Given the description of an element on the screen output the (x, y) to click on. 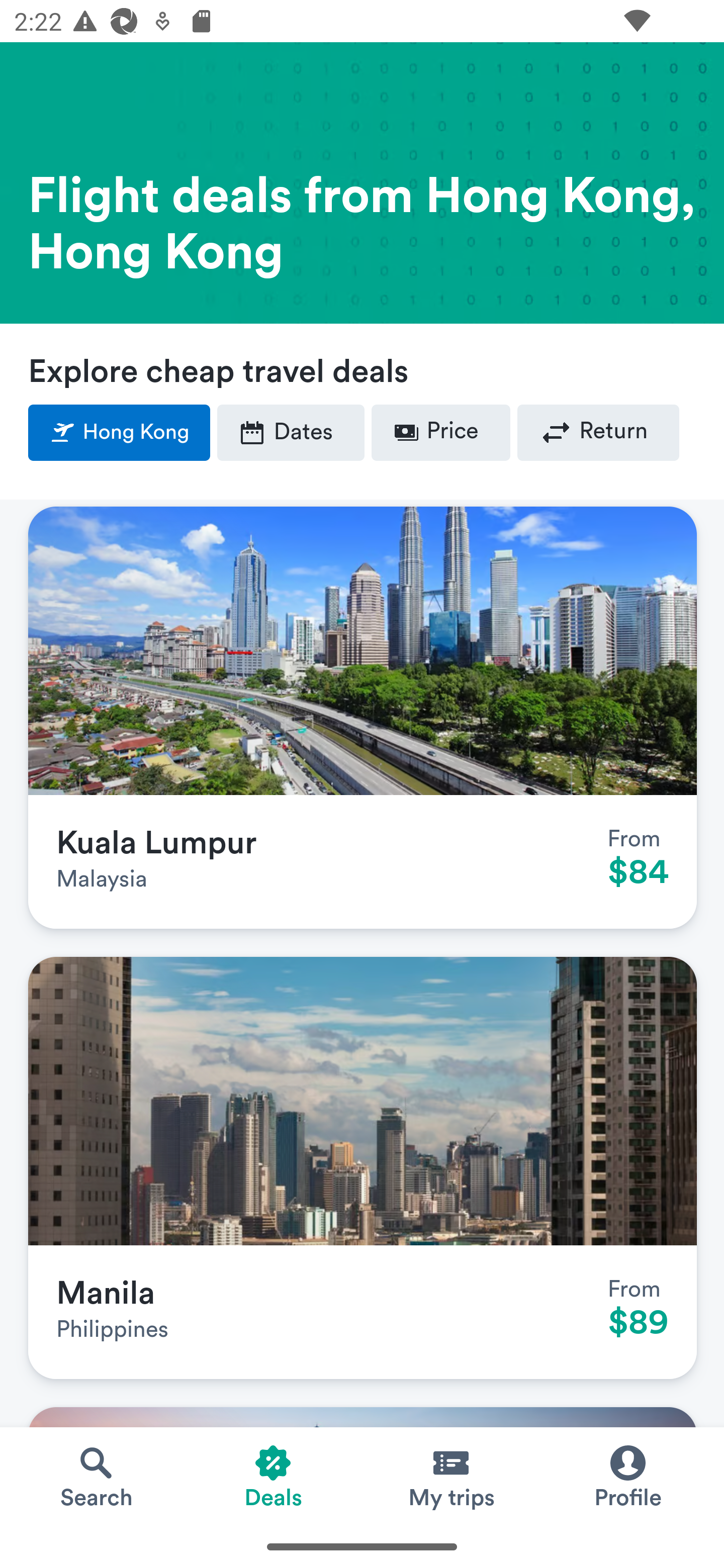
Dates (290, 433)
Price (440, 433)
Return (597, 433)
 Hong Kong (119, 433)
Kuala Lumpur Kuala Lumpur Malaysia From $84 (363, 717)
Manila Manila Philippines From $89 (363, 1167)
Search (95, 1475)
My trips (450, 1475)
Profile (627, 1475)
